Given the description of an element on the screen output the (x, y) to click on. 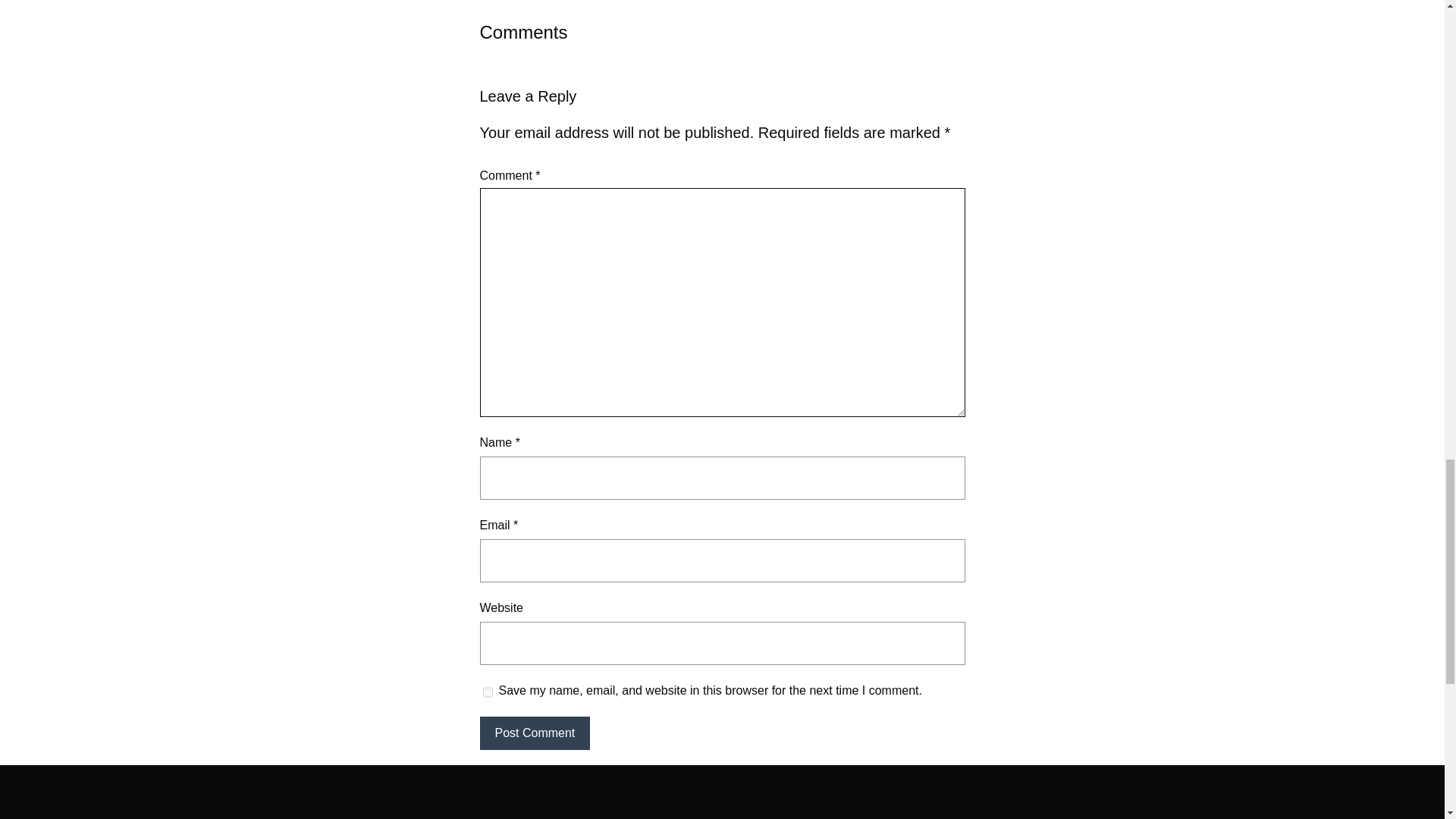
Post Comment (534, 733)
Post Comment (534, 733)
